Given the description of an element on the screen output the (x, y) to click on. 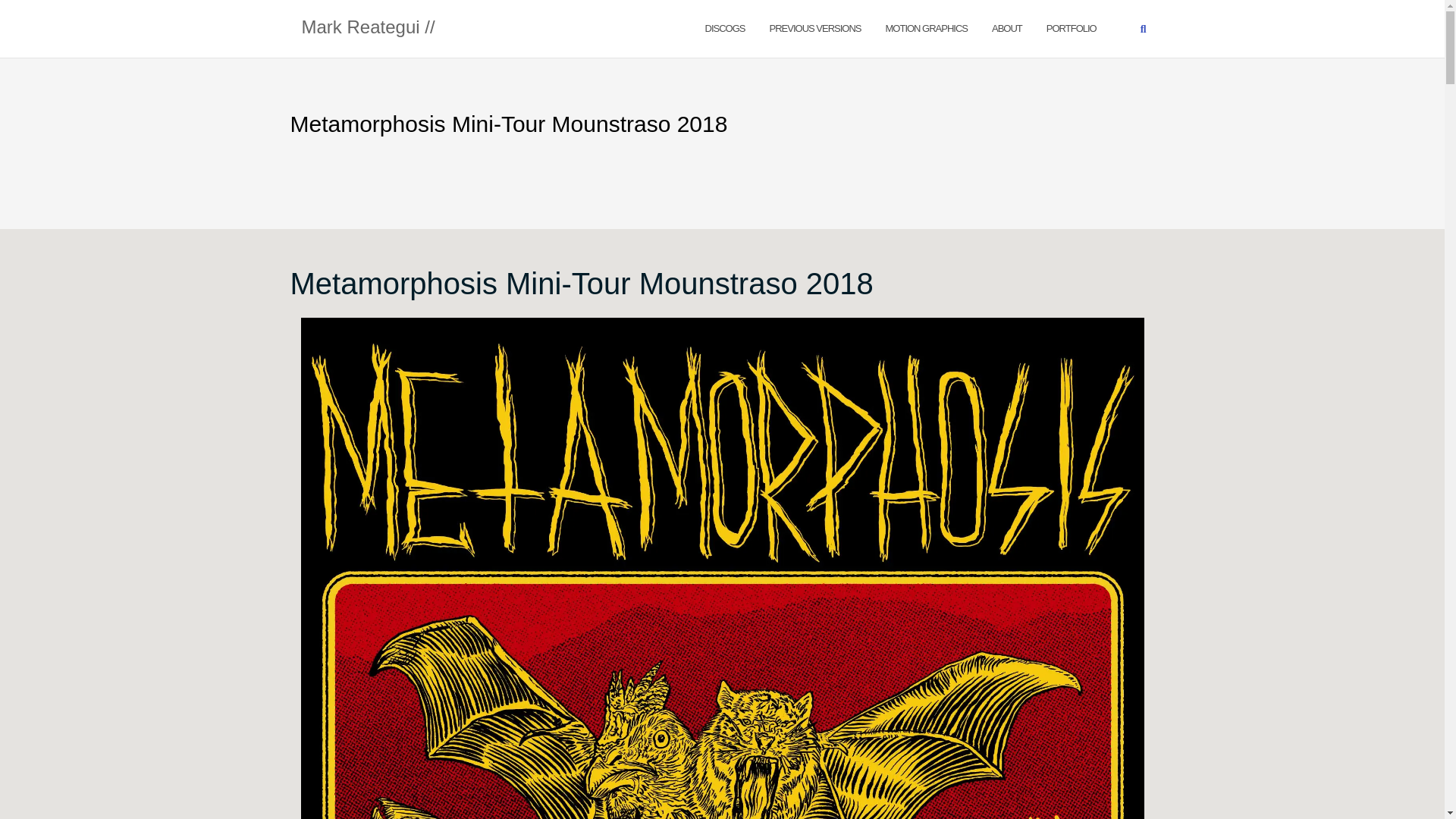
Motion Graphics (926, 28)
Metamorphosis Mini-Tour Mounstraso 2018 (580, 283)
Previous Versions (815, 28)
PREVIOUS VERSIONS (815, 28)
Discogs (724, 28)
DISCOGS (724, 28)
MOTION GRAPHICS (926, 28)
Portfolio (1071, 28)
PORTFOLIO (1071, 28)
